Given the description of an element on the screen output the (x, y) to click on. 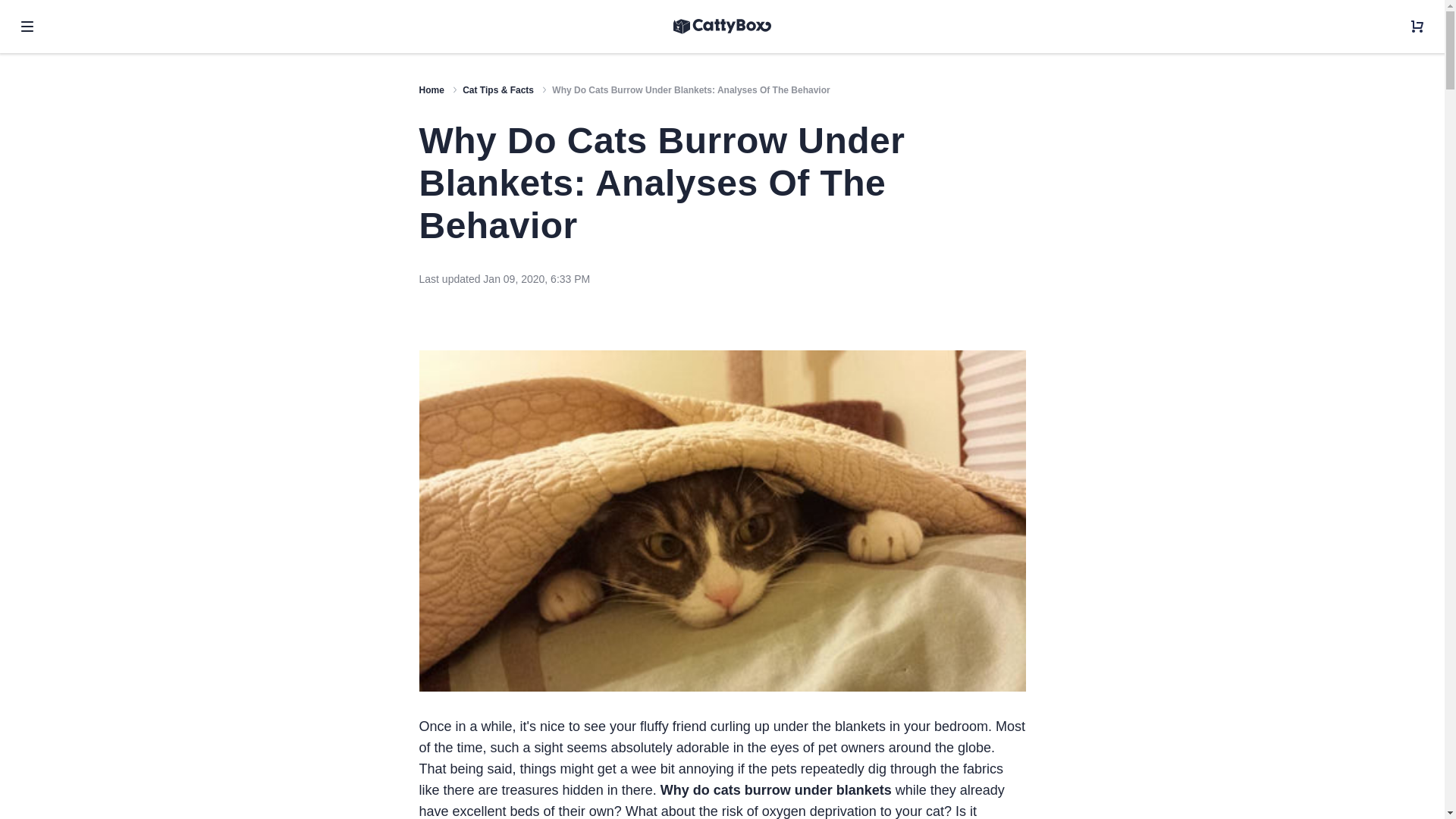
Back to the frontpage (431, 90)
Home (431, 90)
